Given the description of an element on the screen output the (x, y) to click on. 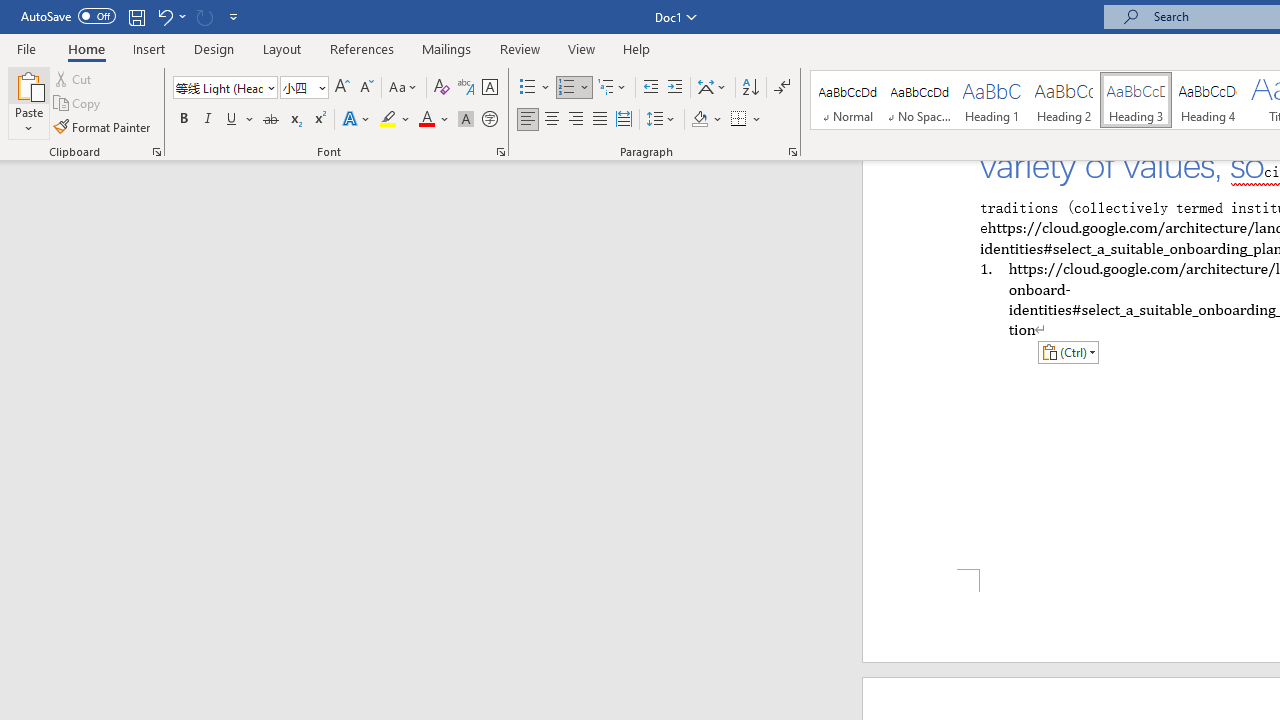
Font Color (434, 119)
Center (552, 119)
Format Painter (103, 126)
Text Highlight Color Yellow (388, 119)
Text Effects and Typography (357, 119)
Superscript (319, 119)
Shrink Font (365, 87)
Show/Hide Editing Marks (781, 87)
Justify (599, 119)
Asian Layout (712, 87)
Grow Font (342, 87)
